Given the description of an element on the screen output the (x, y) to click on. 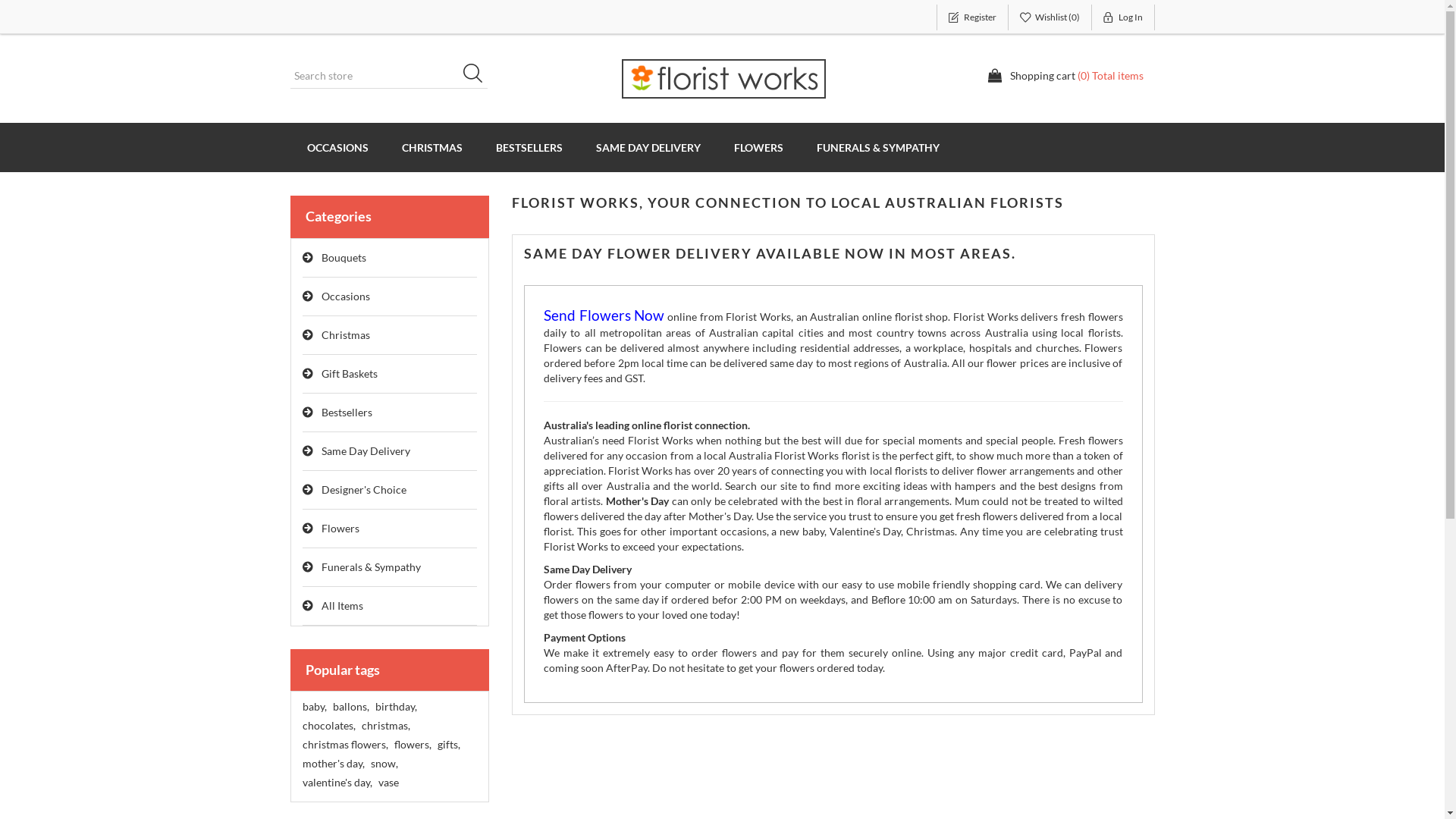
Occasions Element type: text (388, 296)
OCCASIONS Element type: text (336, 147)
Gift Baskets Element type: text (388, 373)
christmas flowers, Element type: text (344, 744)
Bestsellers Element type: text (388, 412)
vase Element type: text (387, 782)
CHRISTMAS Element type: text (432, 147)
SAME DAY DELIVERY Element type: text (648, 147)
flowers, Element type: text (412, 744)
Bouquets Element type: text (388, 257)
birthday, Element type: text (395, 706)
christmas, Element type: text (384, 725)
snow, Element type: text (383, 763)
baby, Element type: text (313, 706)
Funerals & Sympathy Element type: text (388, 567)
Flowers Element type: text (388, 528)
valentine's day, Element type: text (336, 782)
mother's day, Element type: text (332, 763)
chocolates, Element type: text (327, 725)
FLOWERS Element type: text (758, 147)
BESTSELLERS Element type: text (529, 147)
Log In Element type: text (1123, 17)
ballons, Element type: text (350, 706)
FUNERALS & SYMPATHY Element type: text (877, 147)
Designer's Choice Element type: text (388, 489)
Same Day Delivery Element type: text (388, 451)
gifts, Element type: text (447, 744)
Send Flowers Now Element type: text (603, 316)
Wishlist (0) Element type: text (1050, 17)
Register Element type: text (971, 17)
Shopping cart (0) Total items Element type: text (1065, 75)
Christmas Element type: text (388, 335)
All Items Element type: text (388, 605)
